Given the description of an element on the screen output the (x, y) to click on. 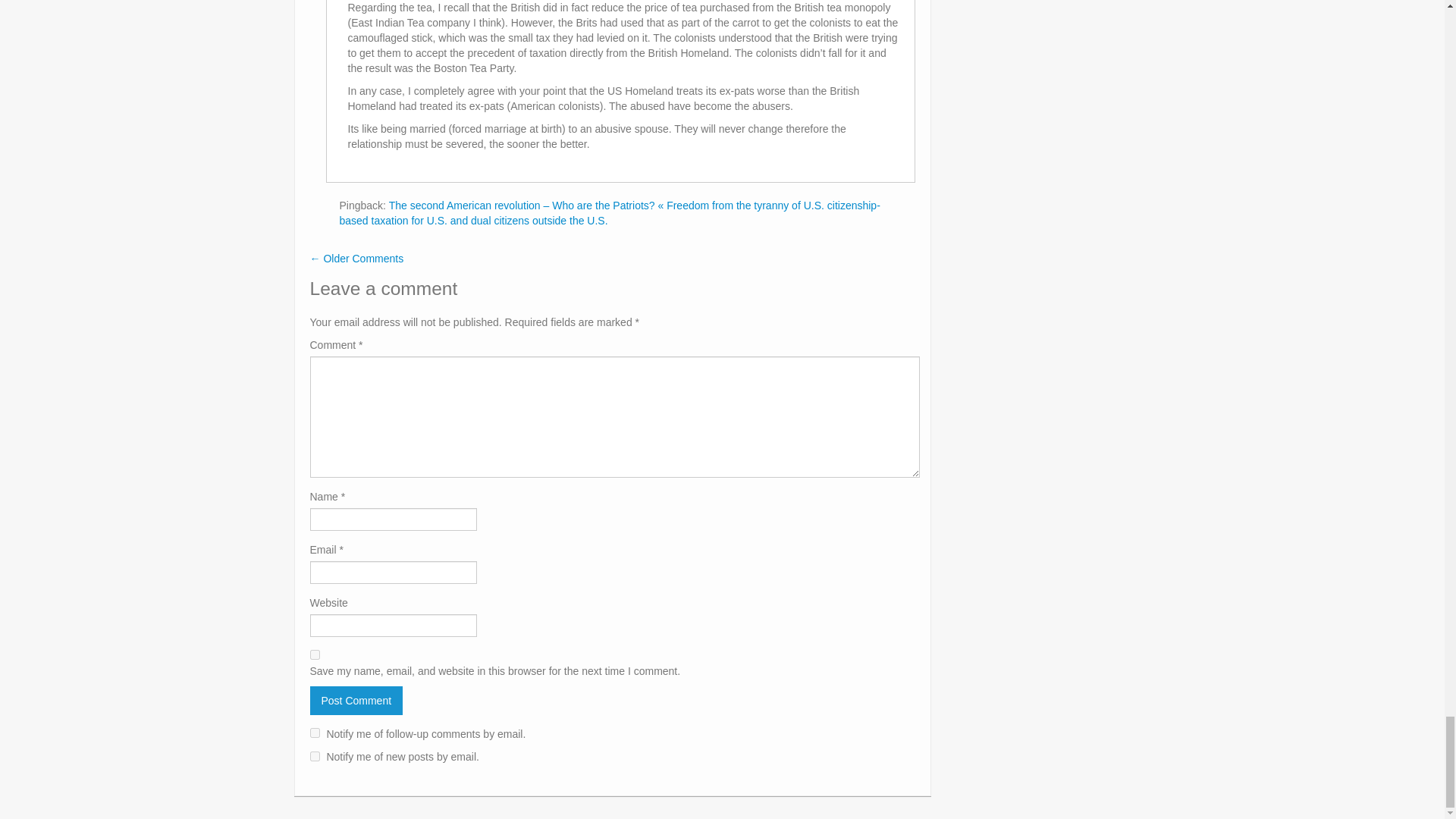
subscribe (313, 756)
subscribe (313, 732)
yes (313, 655)
Post Comment (355, 700)
